Given the description of an element on the screen output the (x, y) to click on. 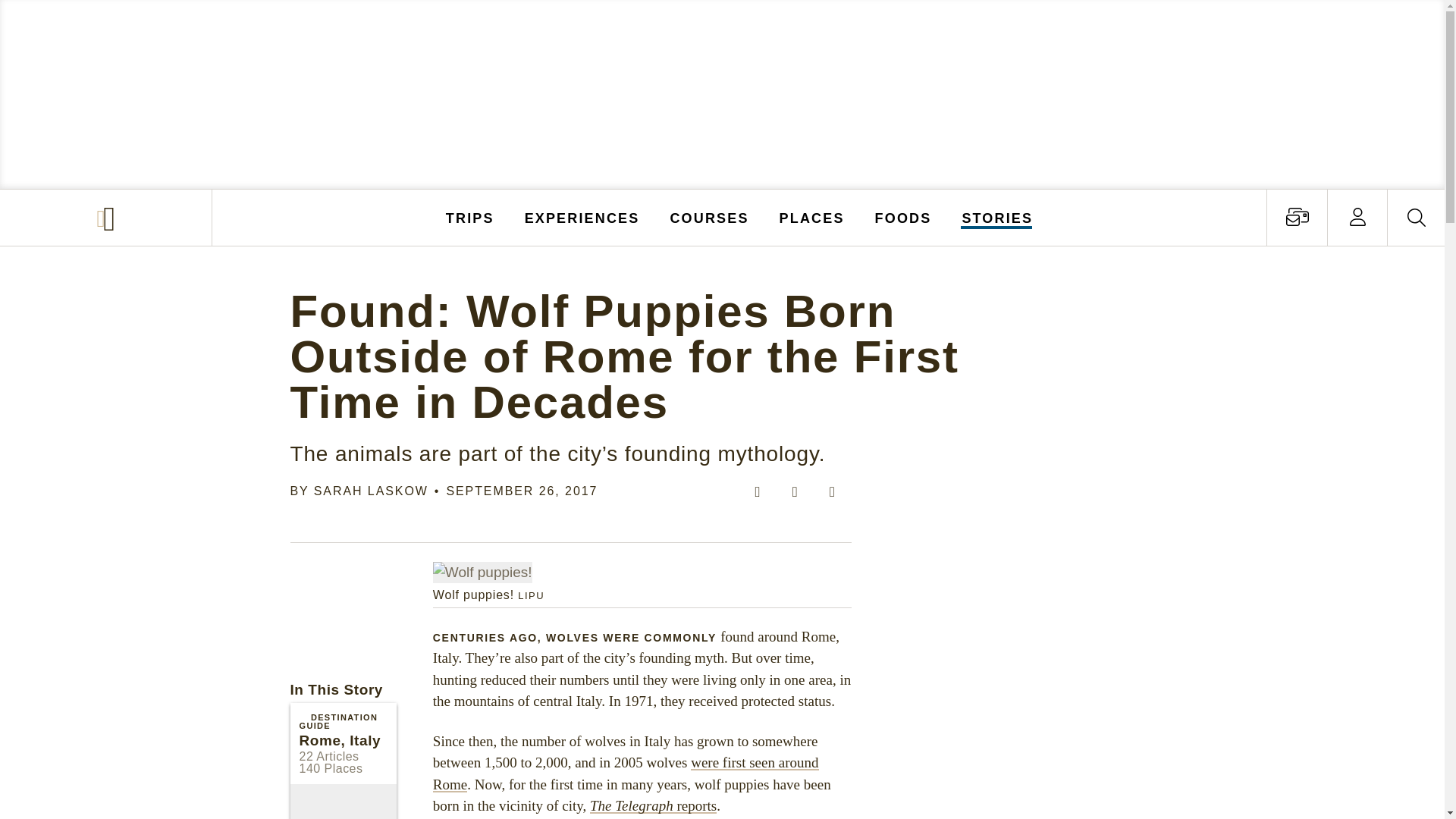
COURSES (707, 217)
TRIPS (469, 217)
EXPERIENCES (582, 217)
PLACES (812, 217)
